Given the description of an element on the screen output the (x, y) to click on. 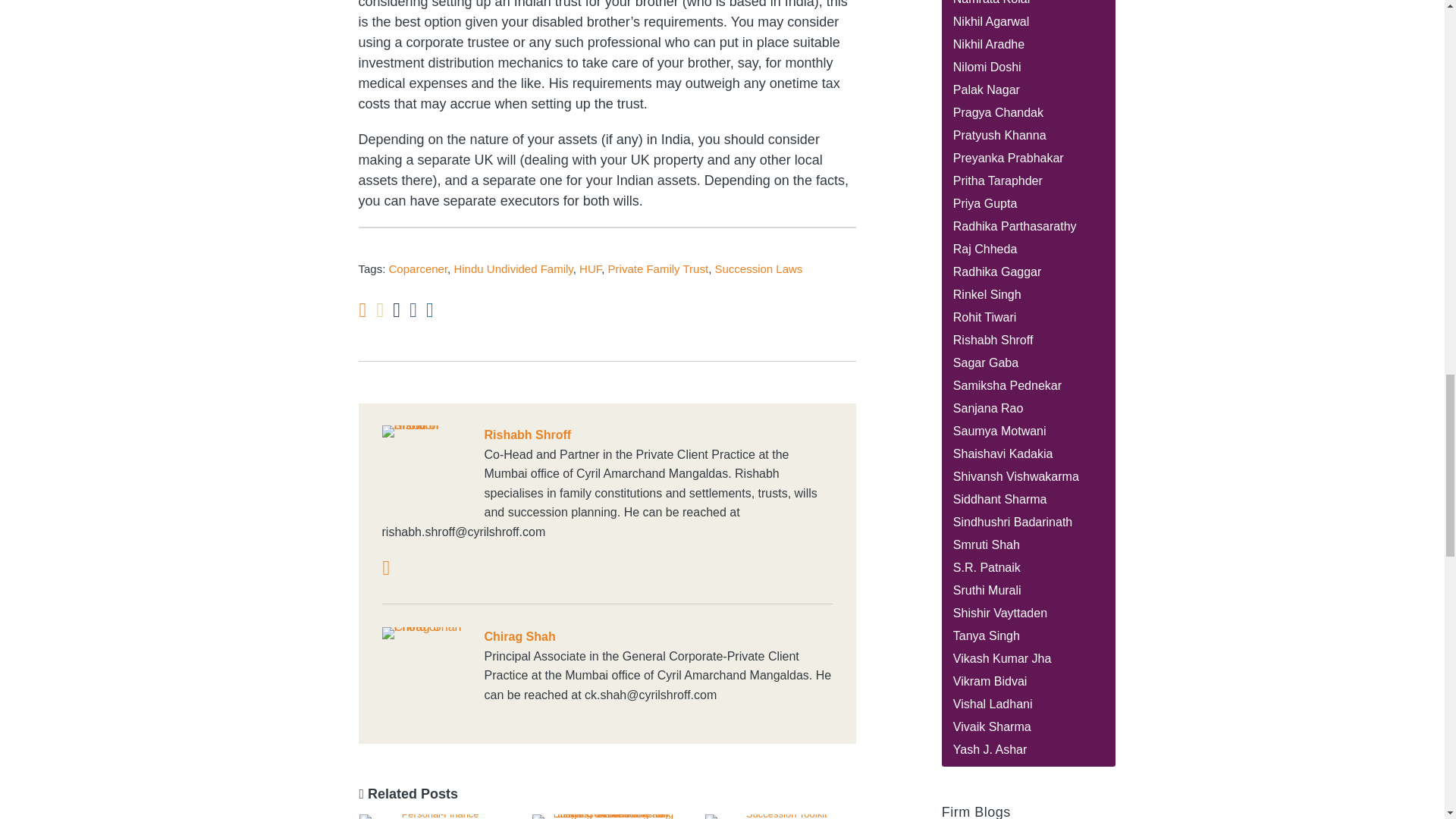
Rishabh Shroff (606, 435)
Succession Laws (758, 268)
Hindu Undivided Family (512, 268)
Chirag Shah (606, 637)
HUF (590, 268)
Private Family Trust (658, 268)
Coparcener (418, 268)
